Given the description of an element on the screen output the (x, y) to click on. 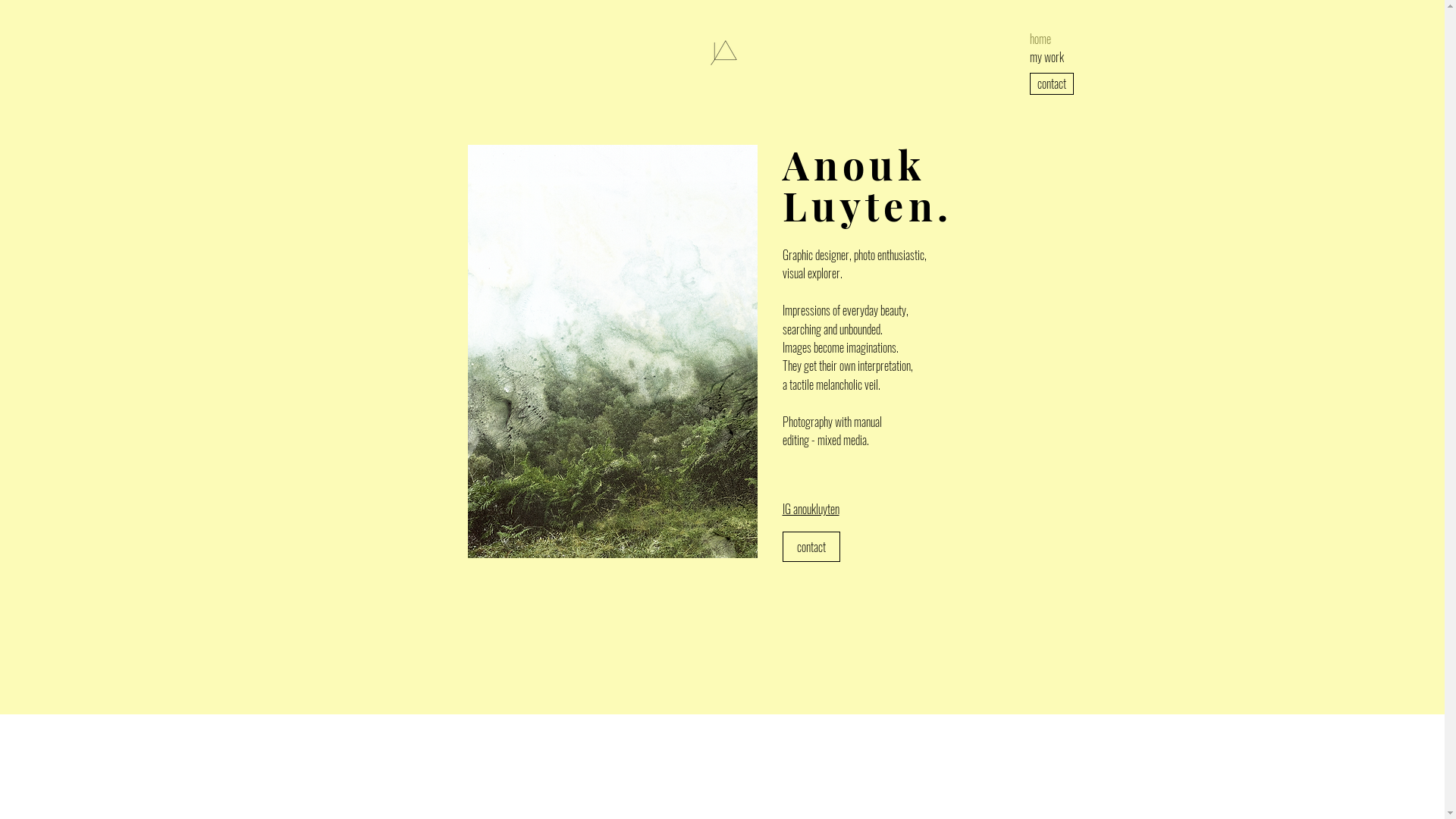
contact Element type: text (811, 546)
IG anoukluyten Element type: text (810, 509)
contact Element type: text (1051, 83)
my work Element type: text (1047, 56)
home Element type: text (1047, 38)
